Given the description of an element on the screen output the (x, y) to click on. 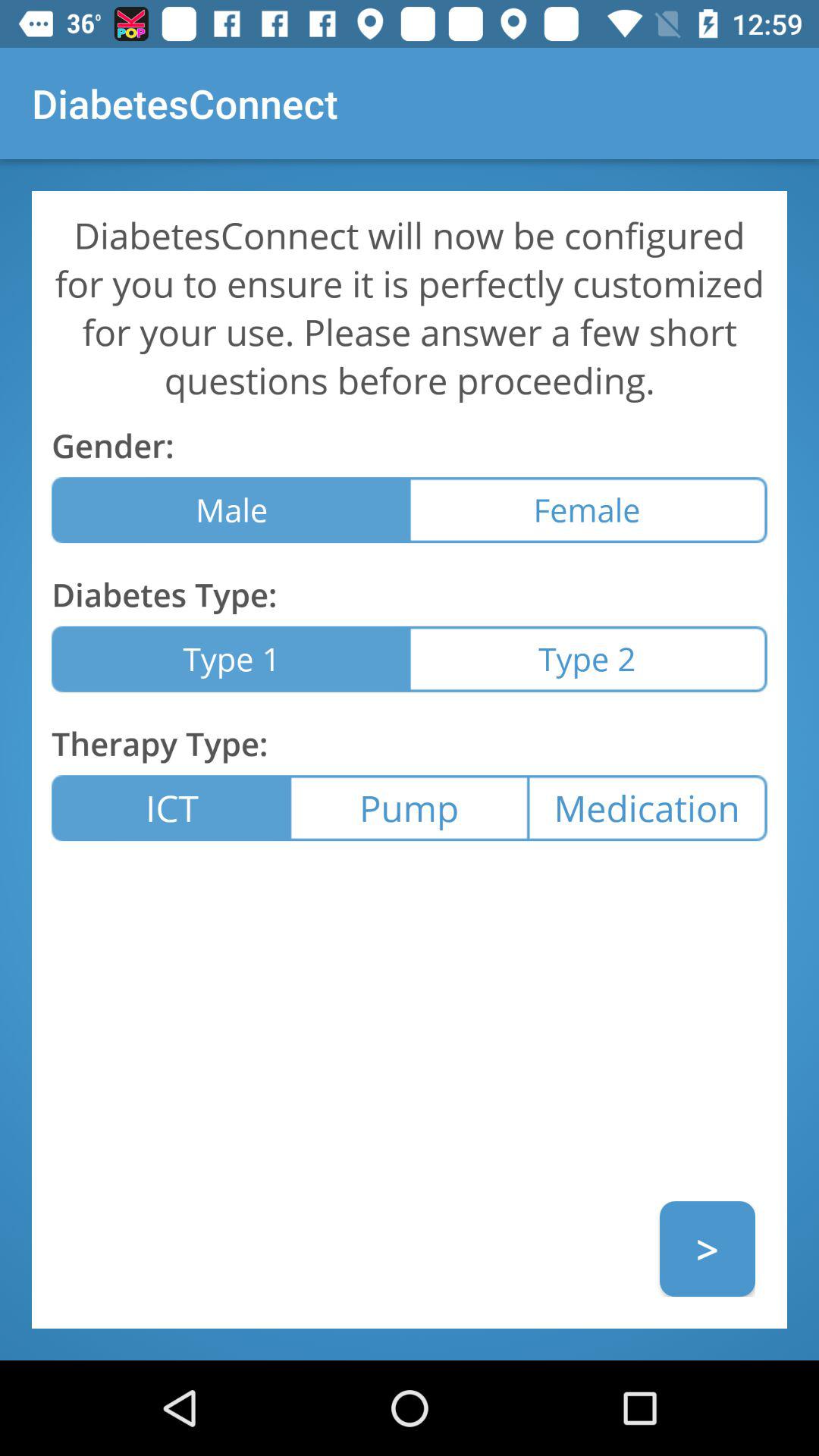
scroll until the type 1 icon (230, 659)
